Given the description of an element on the screen output the (x, y) to click on. 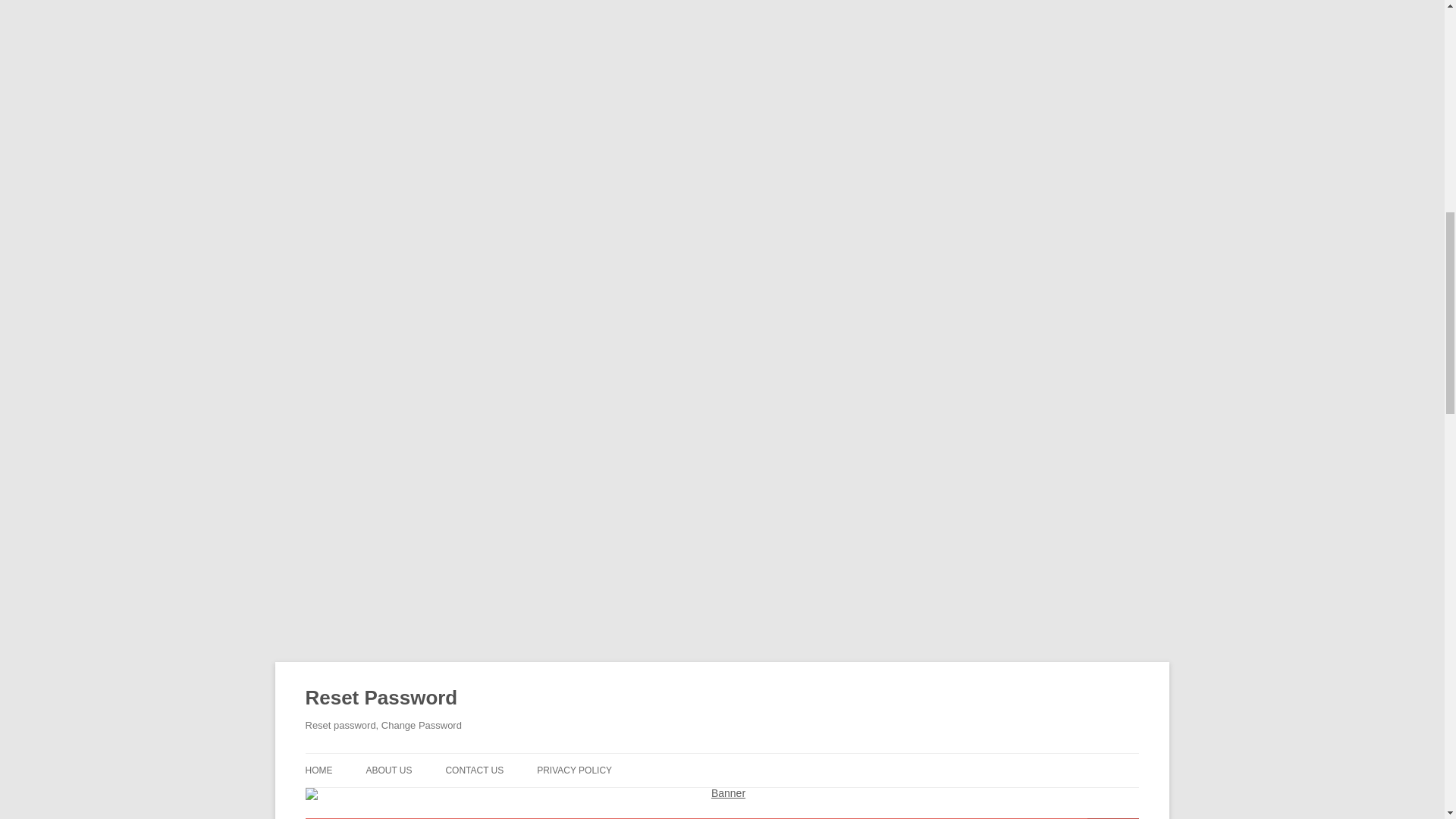
CONTACT US (474, 770)
PRIVACY POLICY (574, 770)
Reset Password (380, 698)
Reset Password (380, 698)
ABOUT US (388, 770)
